Given the description of an element on the screen output the (x, y) to click on. 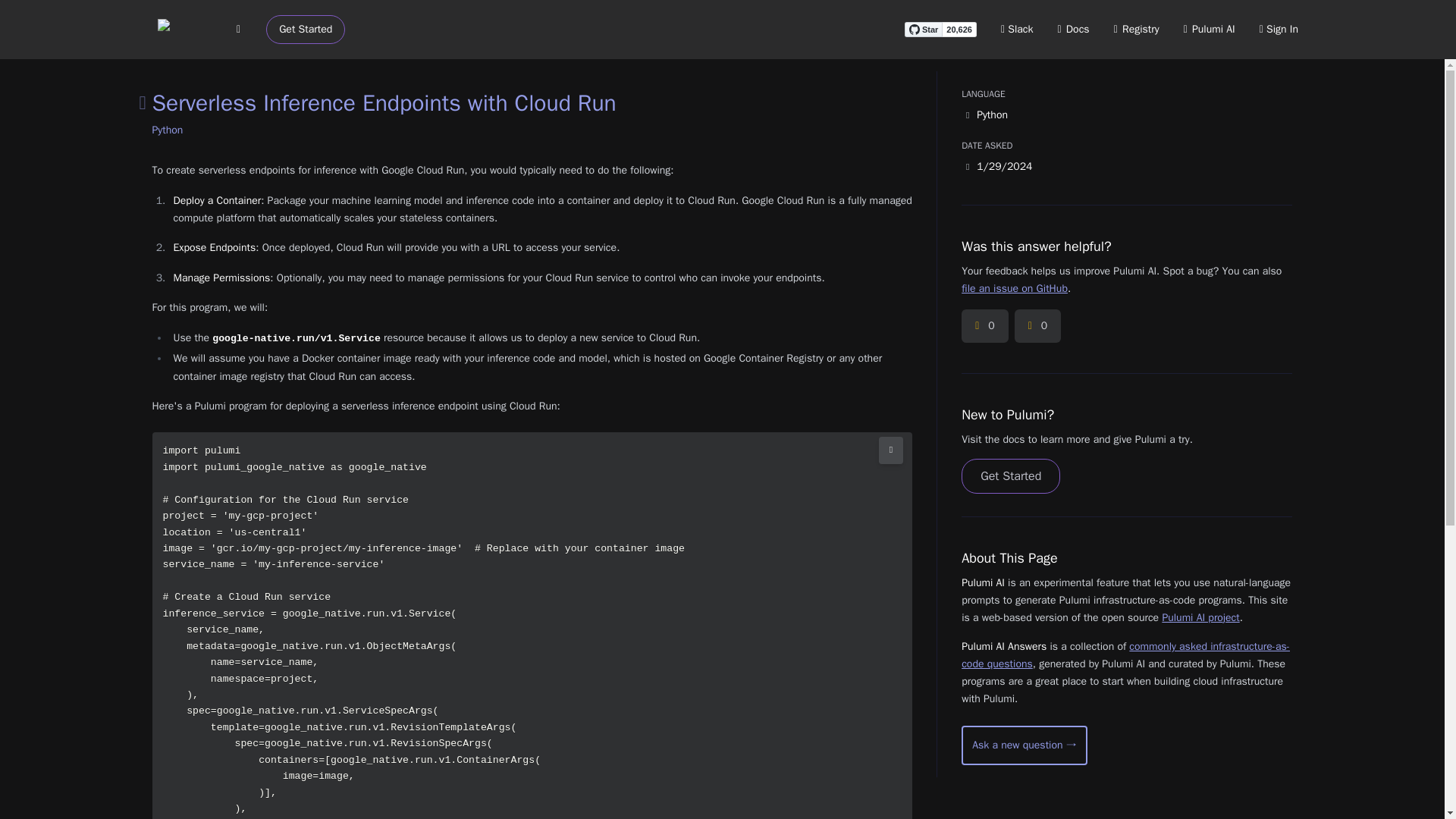
Start a new conversation with Pulumi AI (1023, 744)
Get Started (1009, 475)
20,626 (959, 29)
Sign In (1278, 29)
Pulumi AI (1208, 29)
Get Started (305, 29)
Docs (1073, 29)
0 (1037, 326)
 Star (923, 29)
Slack (1017, 29)
Downvote this answer (1037, 326)
Registry (1135, 29)
Upvote this answer (984, 326)
file an issue on GitHub (1013, 287)
0 (984, 326)
